Given the description of an element on the screen output the (x, y) to click on. 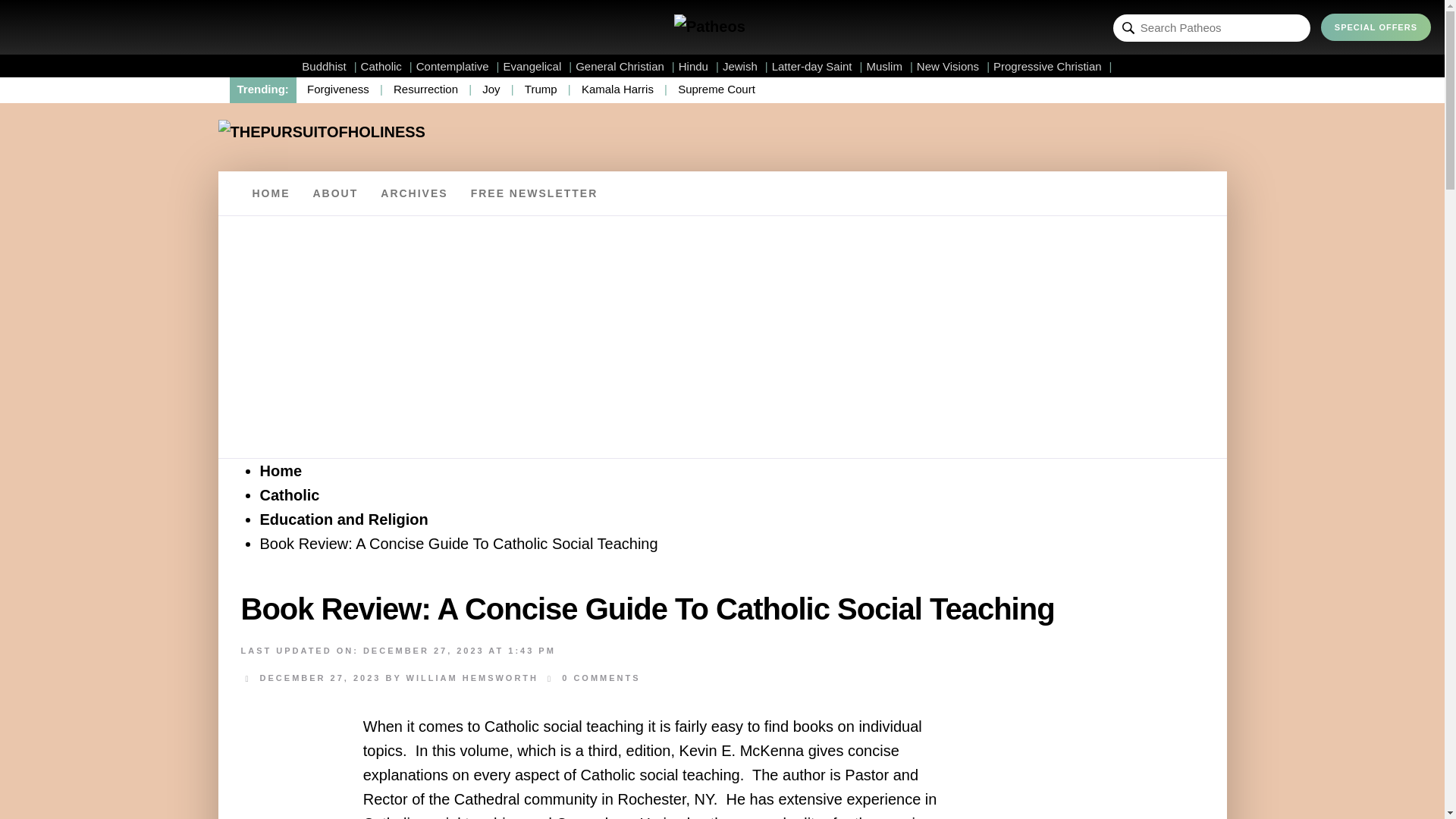
Contemplative (457, 65)
Muslim (889, 65)
Progressive Christian (1052, 65)
General Christian (625, 65)
Buddhist (328, 65)
Hindu (698, 65)
Latter-day Saint (817, 65)
New Visions (953, 65)
Jewish (745, 65)
Catholic (386, 65)
